Given the description of an element on the screen output the (x, y) to click on. 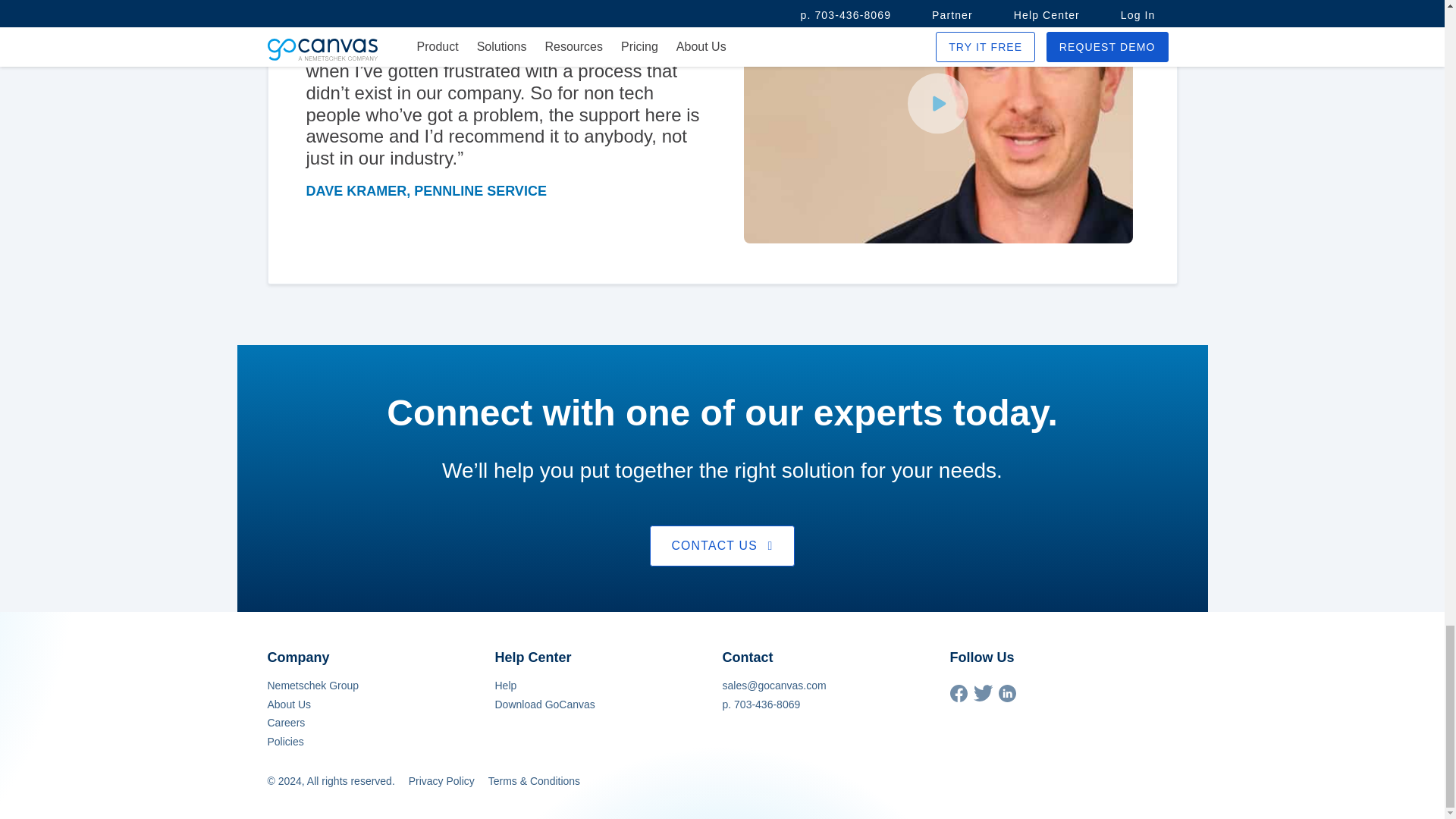
GoCanvas LinkedIn (1005, 698)
GoCanvas Facebook (957, 698)
GoCanvas Twitter (982, 697)
